Given the description of an element on the screen output the (x, y) to click on. 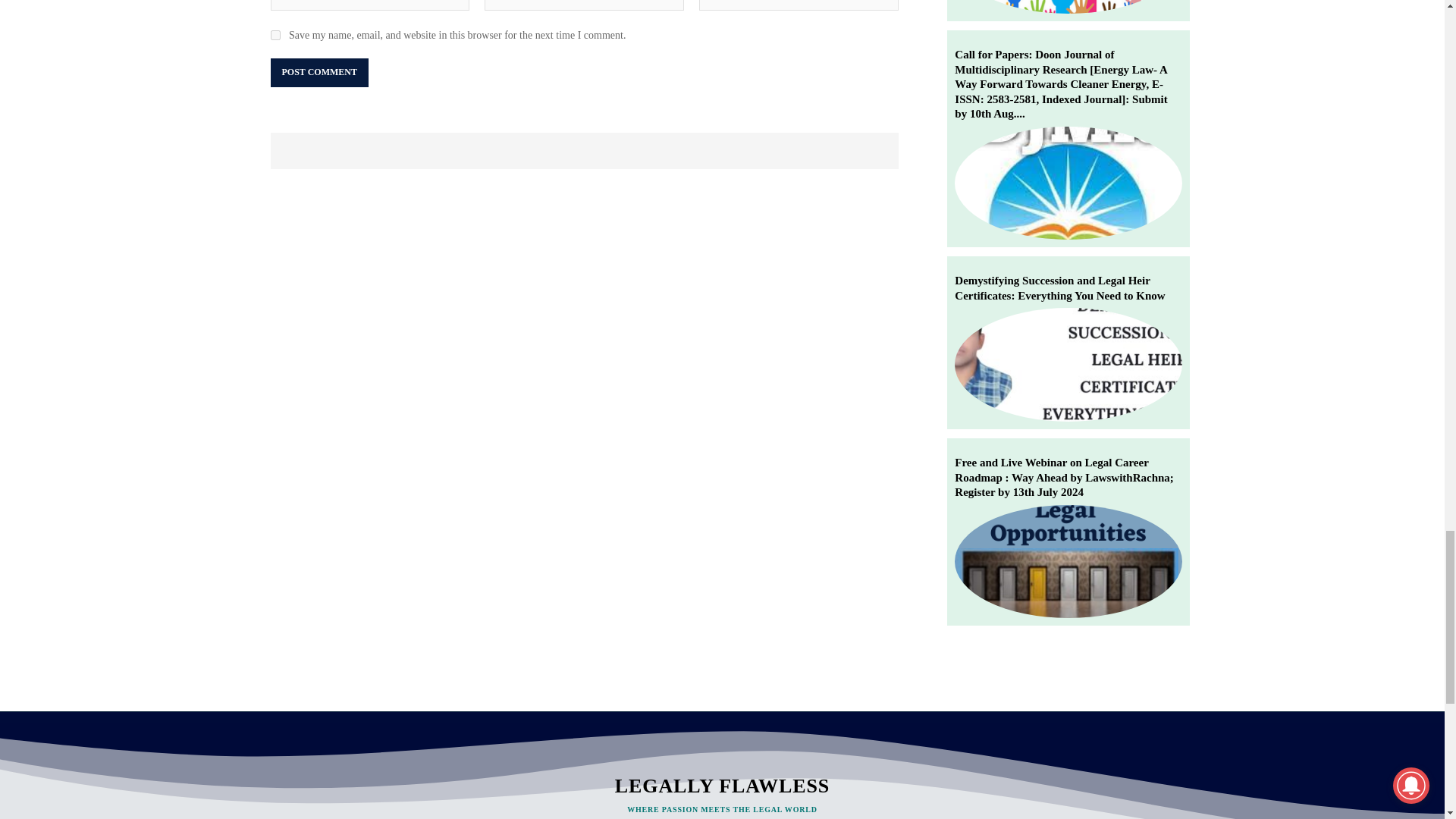
yes (274, 35)
Post Comment (318, 72)
